Given the description of an element on the screen output the (x, y) to click on. 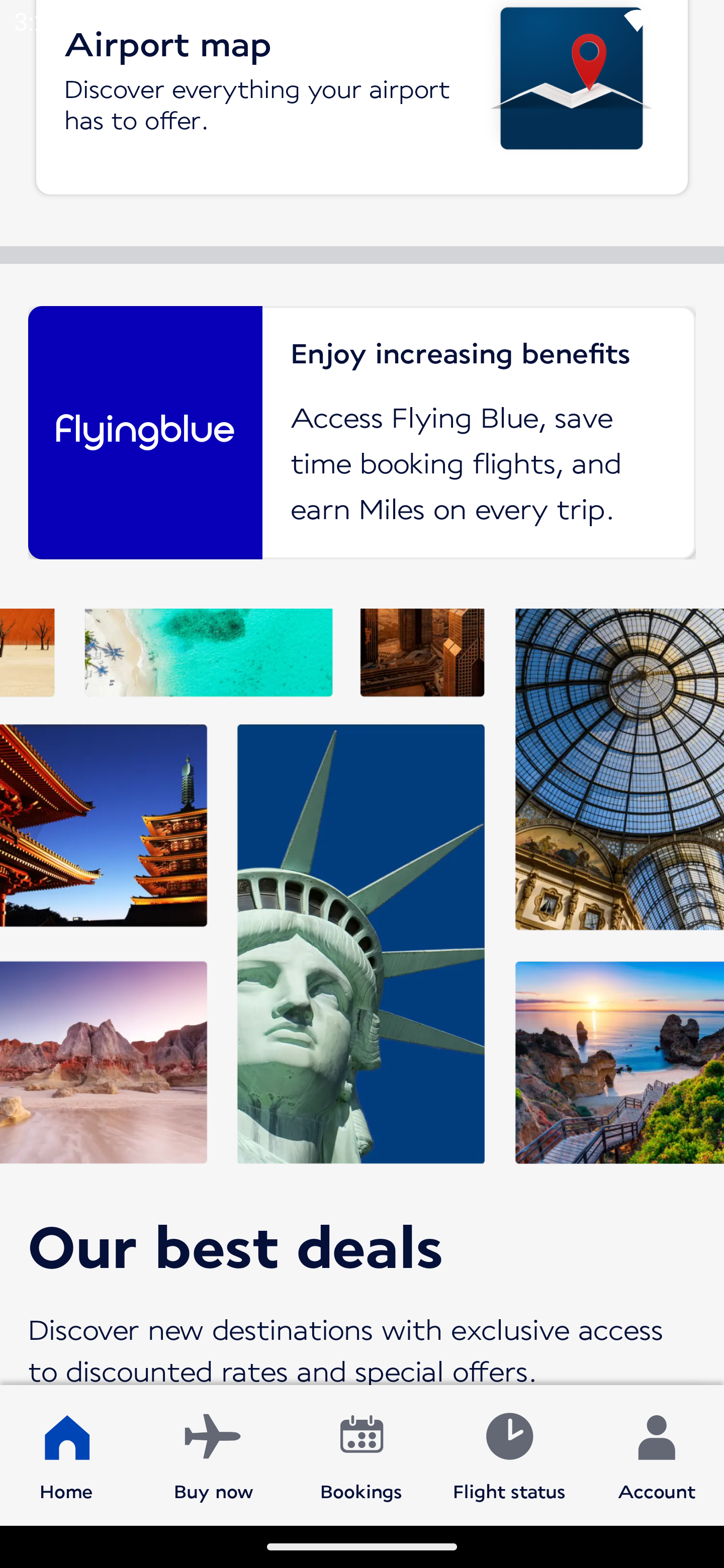
Buy now (213, 1454)
Bookings (361, 1454)
Flight status (509, 1454)
Account (657, 1454)
